Given the description of an element on the screen output the (x, y) to click on. 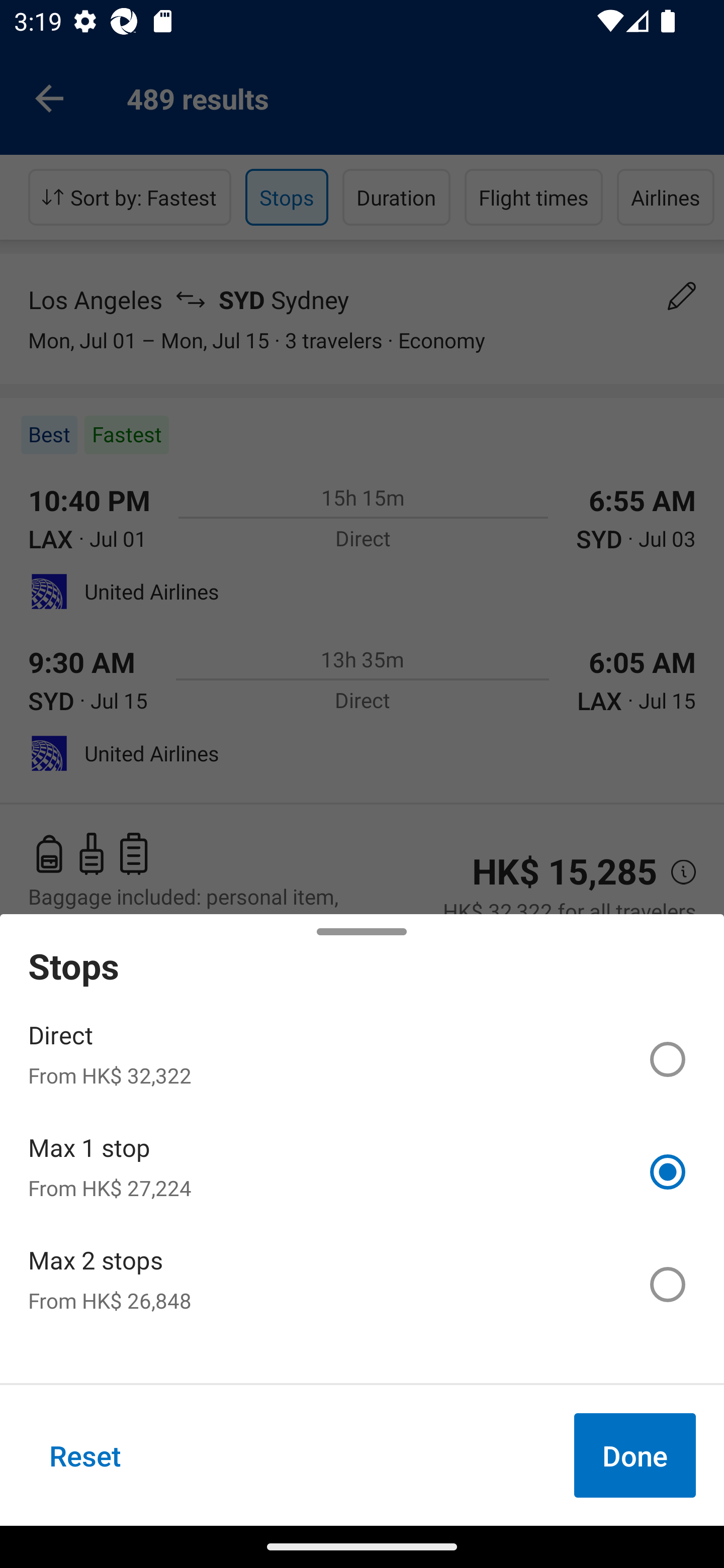
Direct From HK$ 32,322 (362, 1059)
Max 1 stop From HK$ 27,224 (362, 1171)
Max 2 stops From HK$ 26,848 (362, 1283)
Reset (85, 1454)
Done (634, 1454)
